Given the description of an element on the screen output the (x, y) to click on. 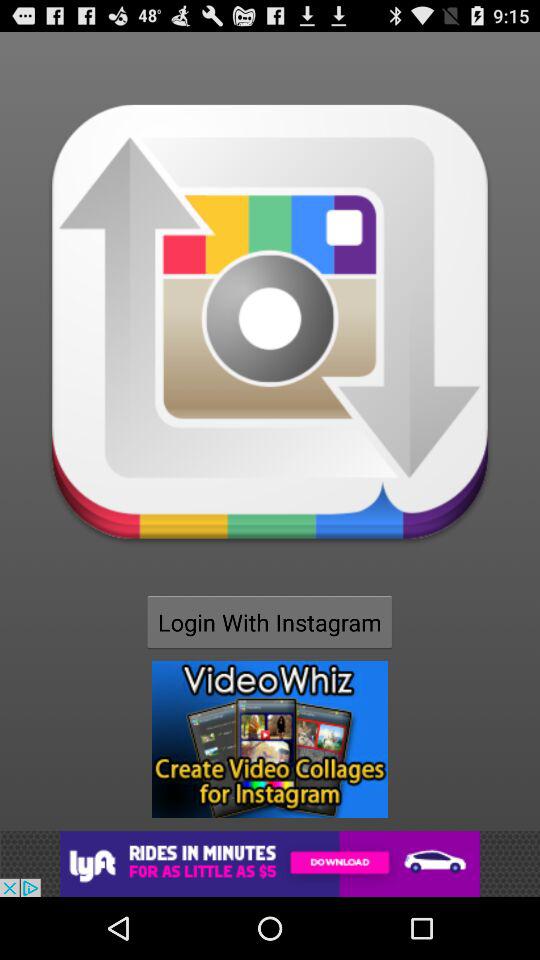
advertisements image (270, 864)
